Given the description of an element on the screen output the (x, y) to click on. 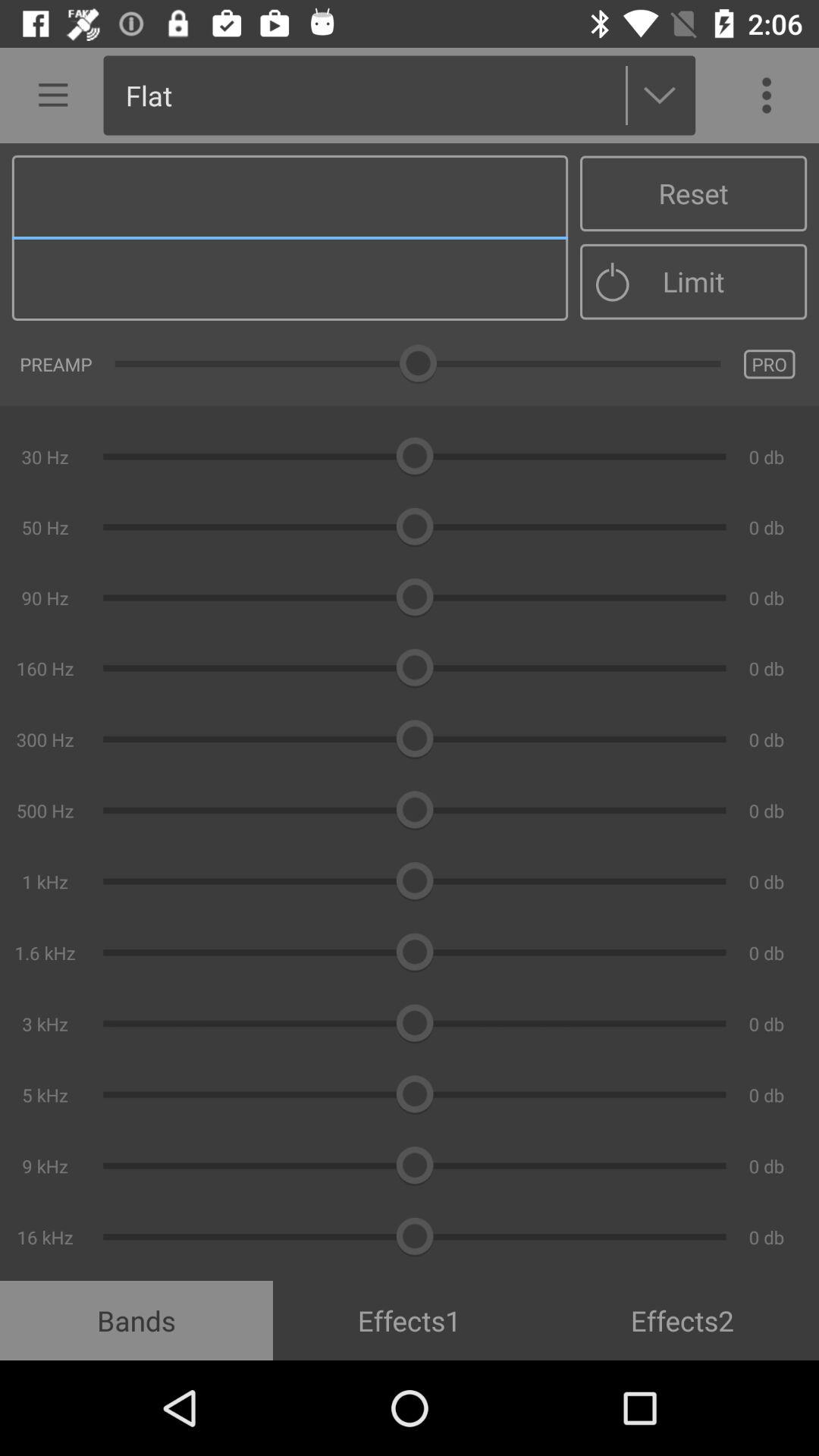
volume equalizer (409, 711)
